Given the description of an element on the screen output the (x, y) to click on. 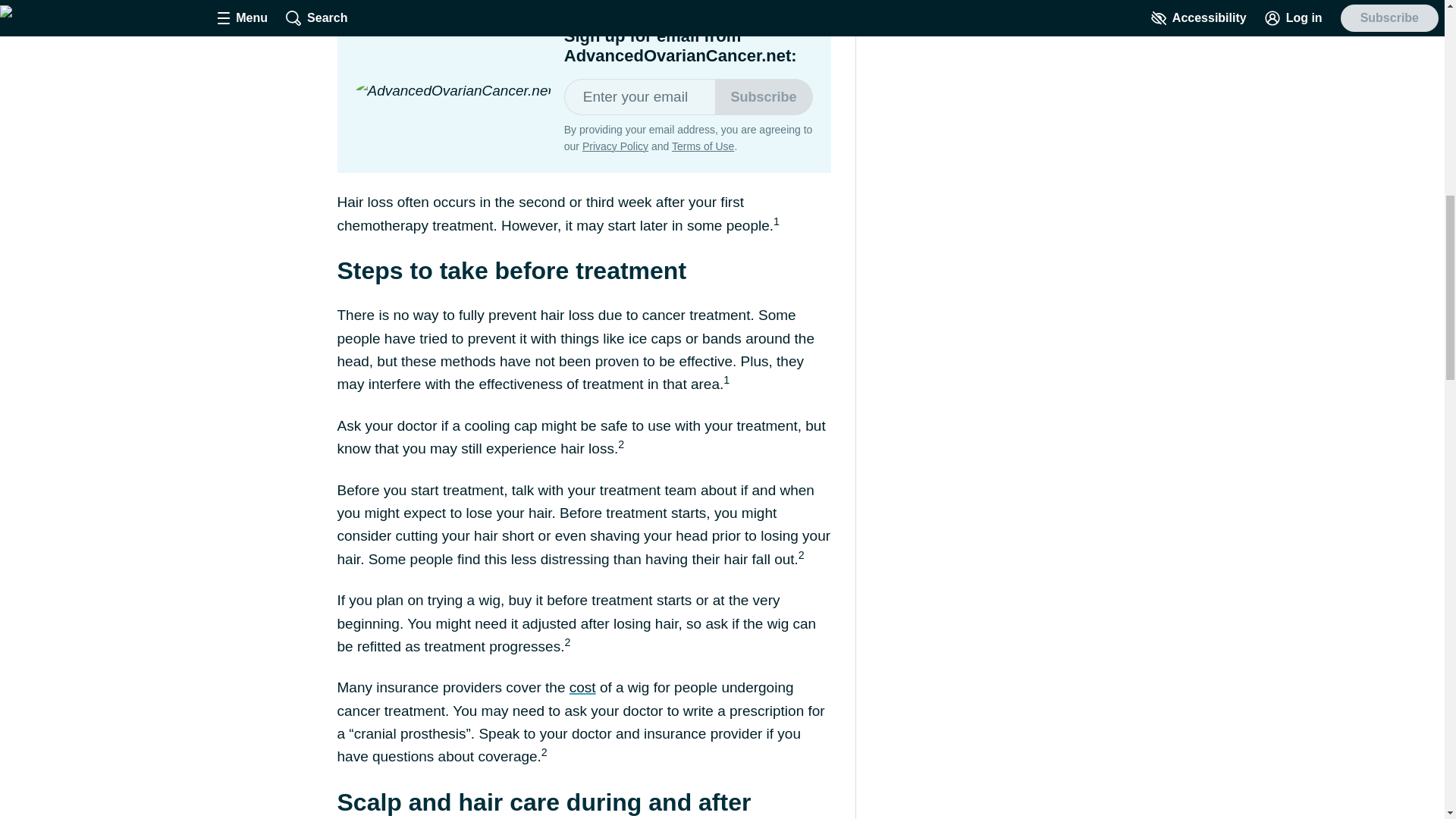
Subscribe (763, 96)
Privacy Policy (614, 146)
Terms of Use (702, 146)
cost (582, 687)
